Given the description of an element on the screen output the (x, y) to click on. 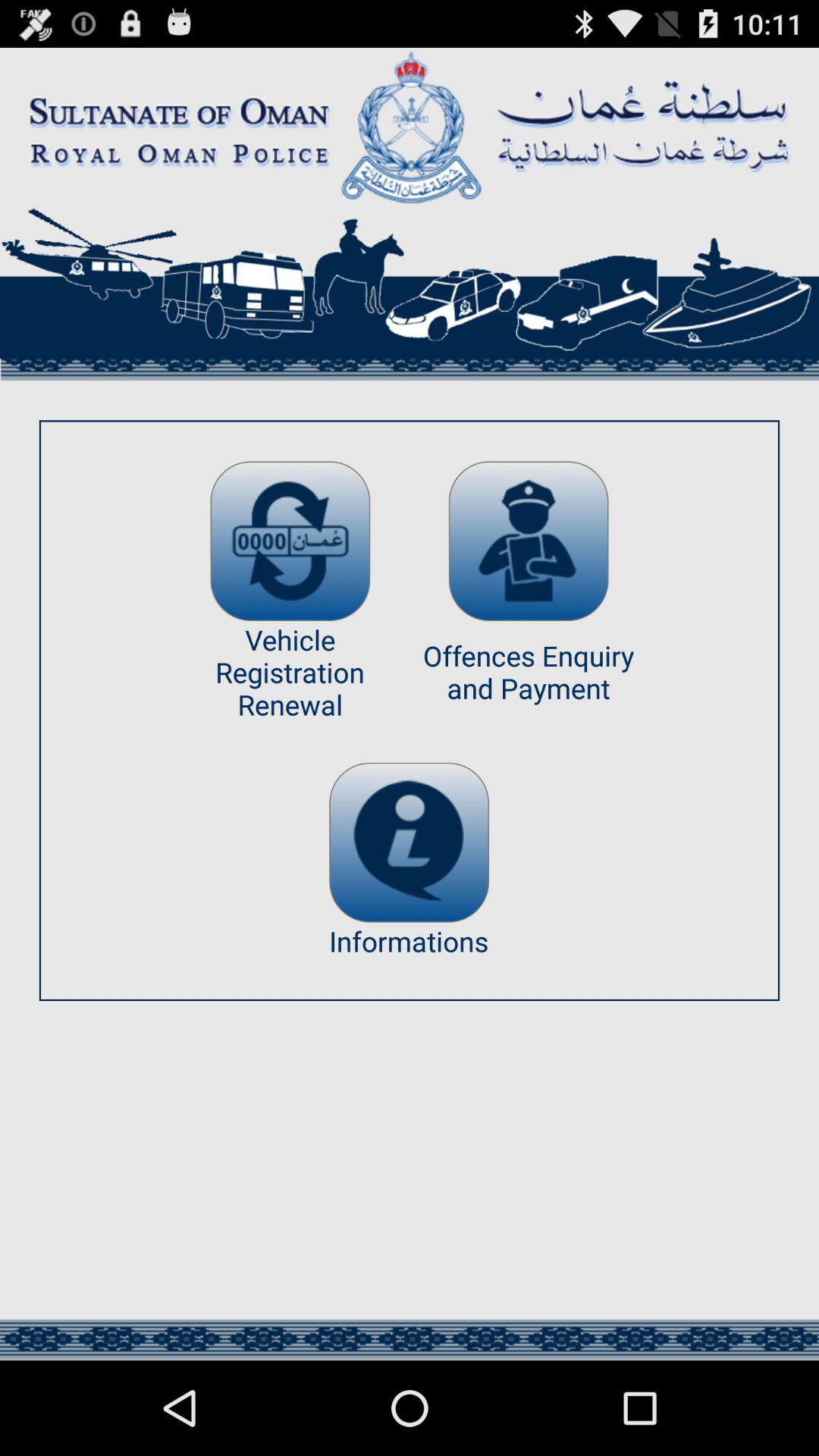
open app above the vehicle registration renewal app (290, 541)
